Given the description of an element on the screen output the (x, y) to click on. 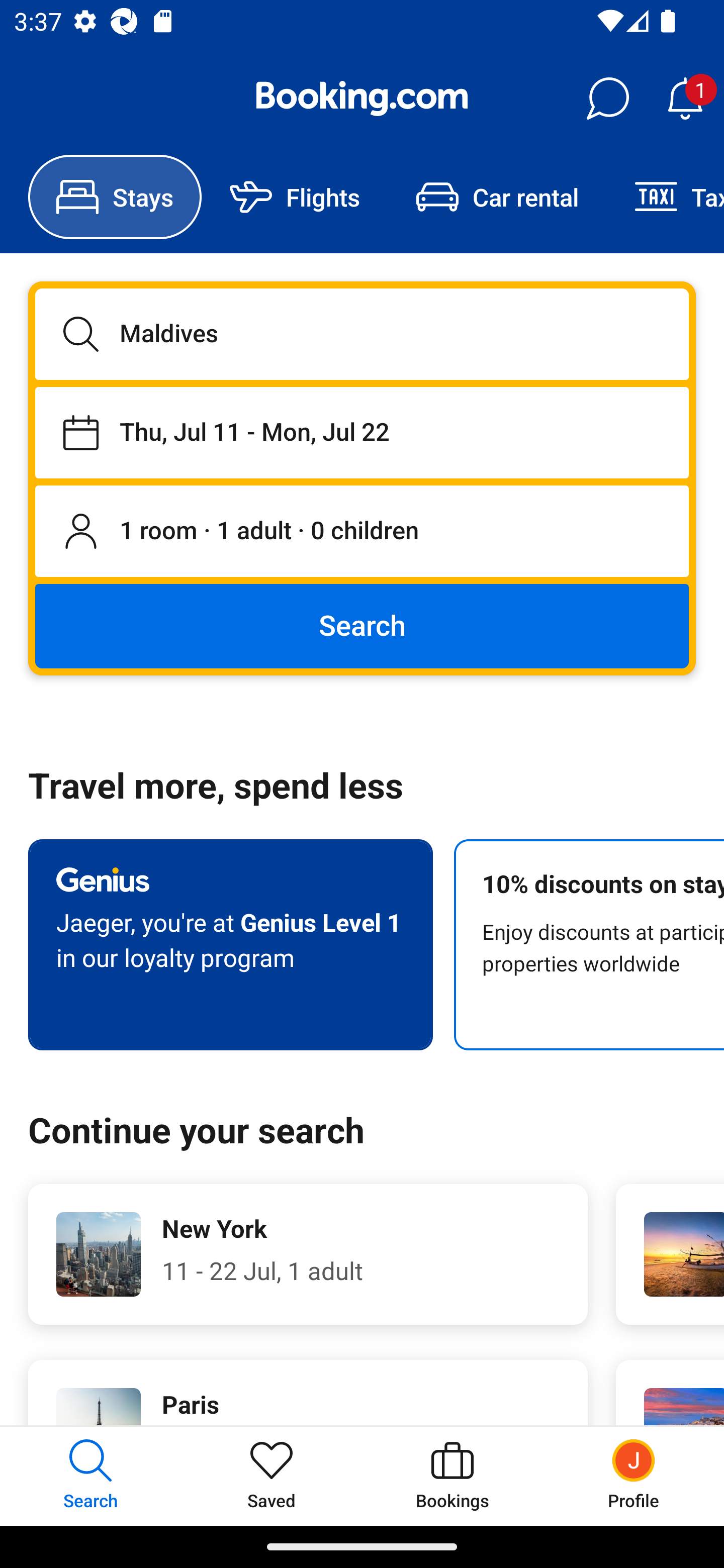
Messages (607, 98)
Notifications (685, 98)
Stays (114, 197)
Flights (294, 197)
Car rental (497, 197)
Taxi (665, 197)
Maldives (361, 333)
Staying from Thu, Jul 11 until Mon, Jul 22 (361, 432)
1 room, 1 adult, 0 children (361, 531)
Search (361, 625)
New York 11 - 22 Jul, 1 adult (307, 1253)
Saved (271, 1475)
Bookings (452, 1475)
Profile (633, 1475)
